Given the description of an element on the screen output the (x, y) to click on. 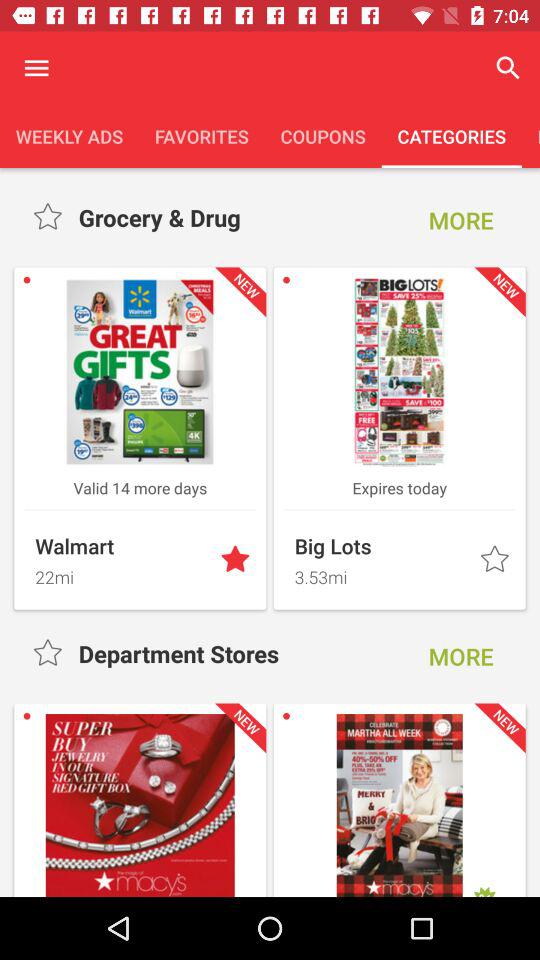
add to favorites (496, 559)
